Given the description of an element on the screen output the (x, y) to click on. 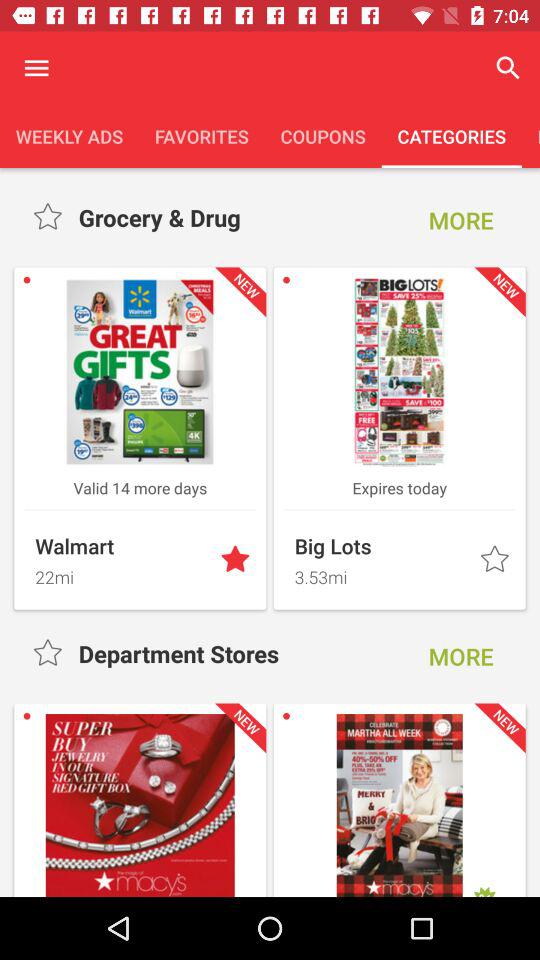
add to favorites (496, 559)
